Given the description of an element on the screen output the (x, y) to click on. 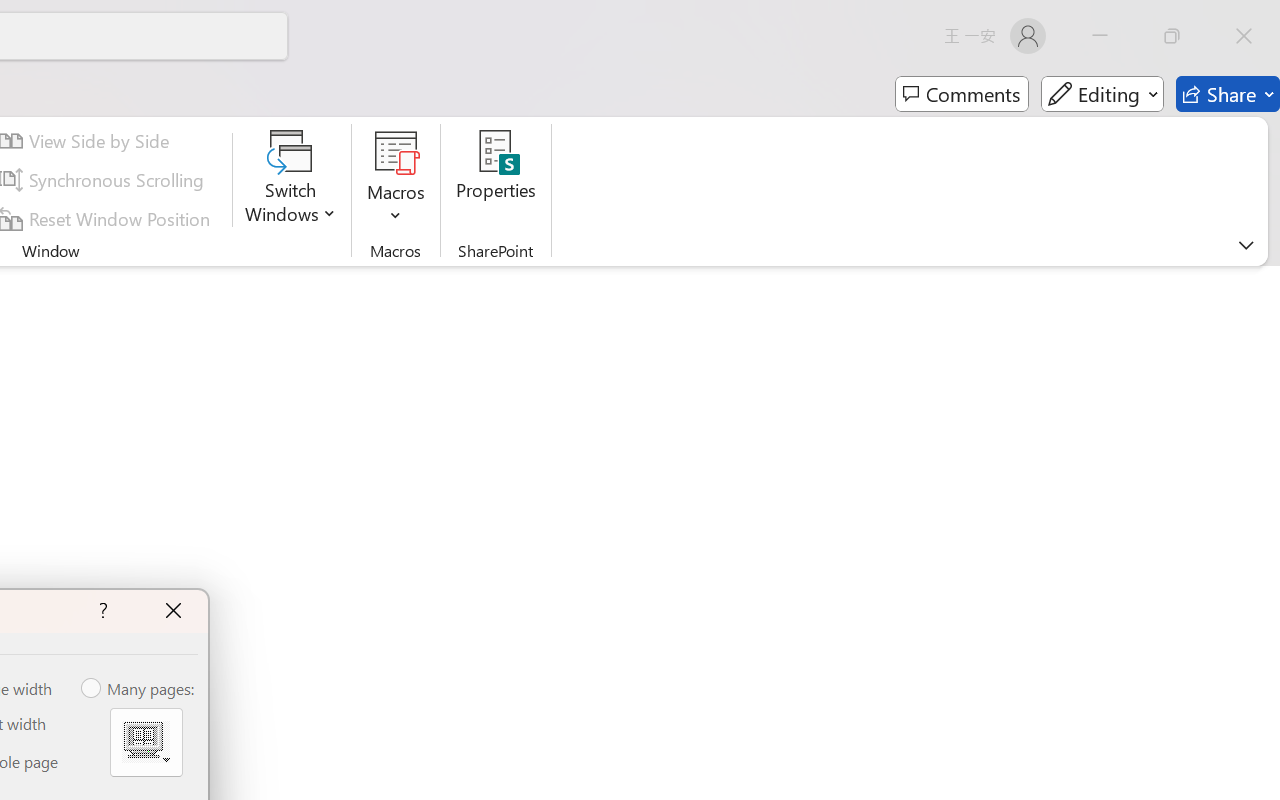
Share (1228, 94)
Properties (496, 179)
Many pages: (139, 689)
Minimize (1099, 36)
Ribbon Display Options (1246, 245)
Multiple Pages (146, 742)
Comments (961, 94)
Macros (395, 179)
Switch Windows (290, 179)
Restore Down (1172, 36)
Close (1244, 36)
More Options (395, 208)
